Given the description of an element on the screen output the (x, y) to click on. 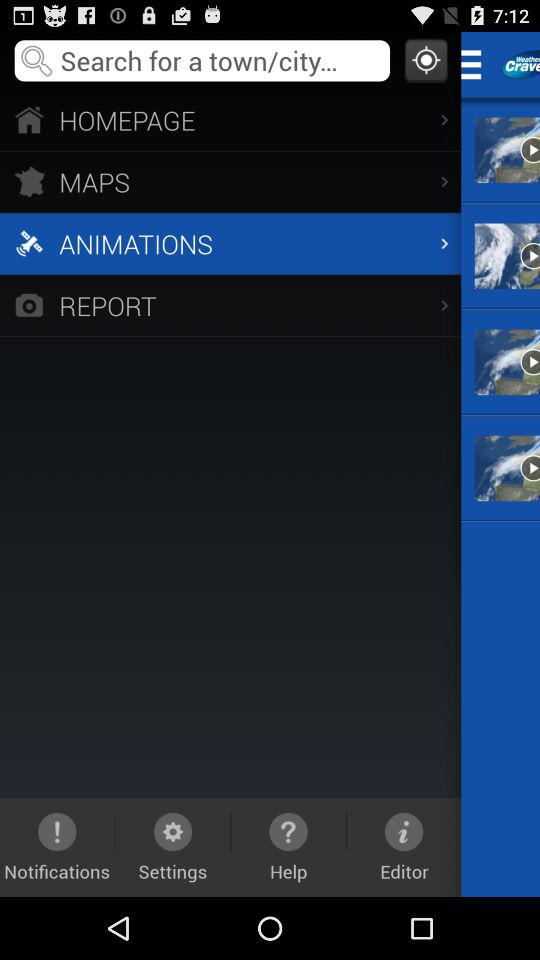
press notifications item (57, 847)
